Given the description of an element on the screen output the (x, y) to click on. 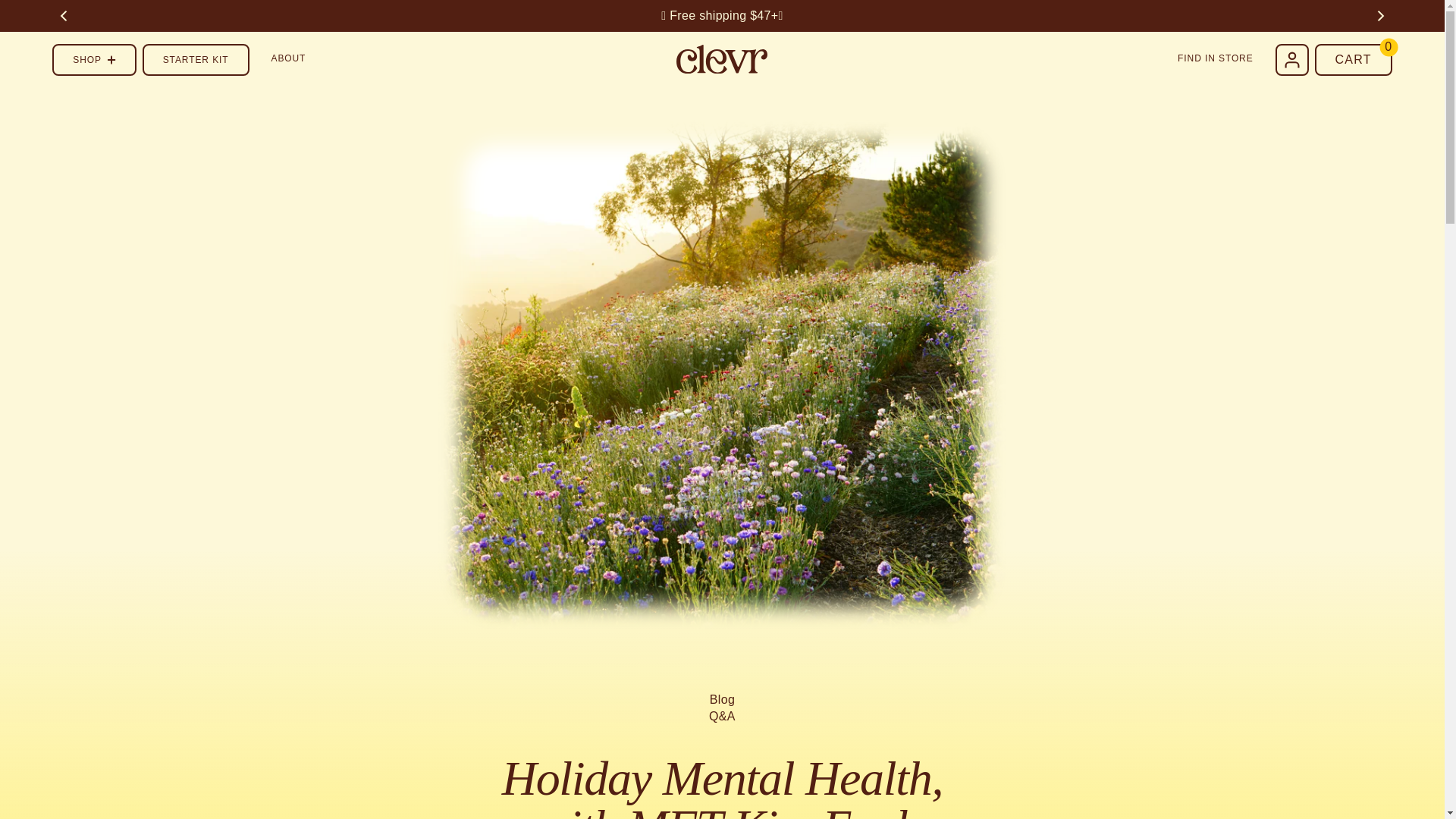
STARTER KIT (195, 60)
ABOUT (288, 59)
SHOP (93, 60)
FIND IN STORE (1214, 59)
